Given the description of an element on the screen output the (x, y) to click on. 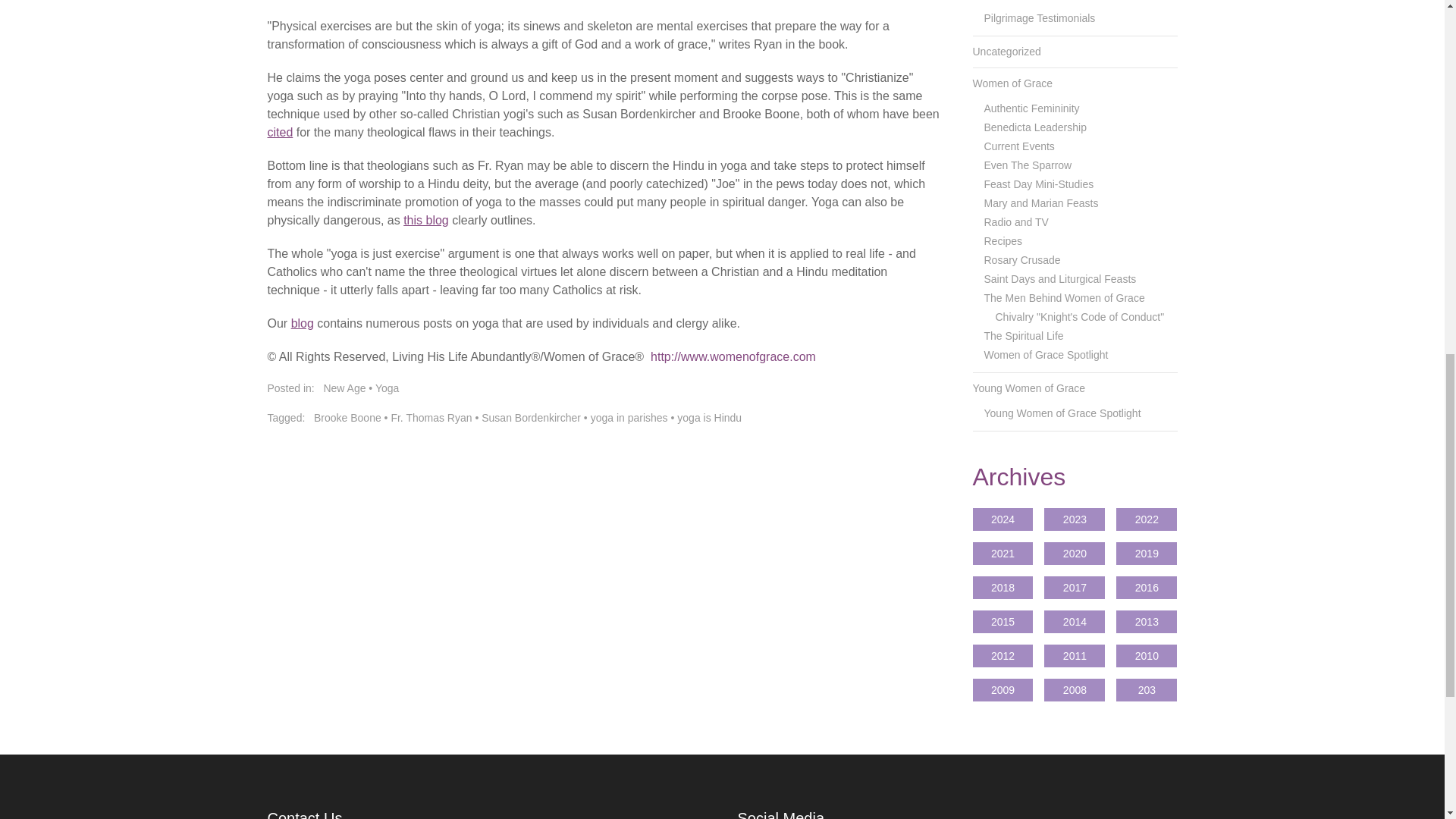
Physical Dangers of Yoga (427, 219)
yoga in parishes (629, 417)
yoga is Hindu (709, 417)
Brooke Boone (347, 417)
Fr. Thomas Ryan (430, 417)
WOG New Age blog index (302, 323)
Christian Yoga is Syncretism (280, 132)
blog (302, 323)
this blog (427, 219)
Susan Bordenkircher (530, 417)
